Given the description of an element on the screen output the (x, y) to click on. 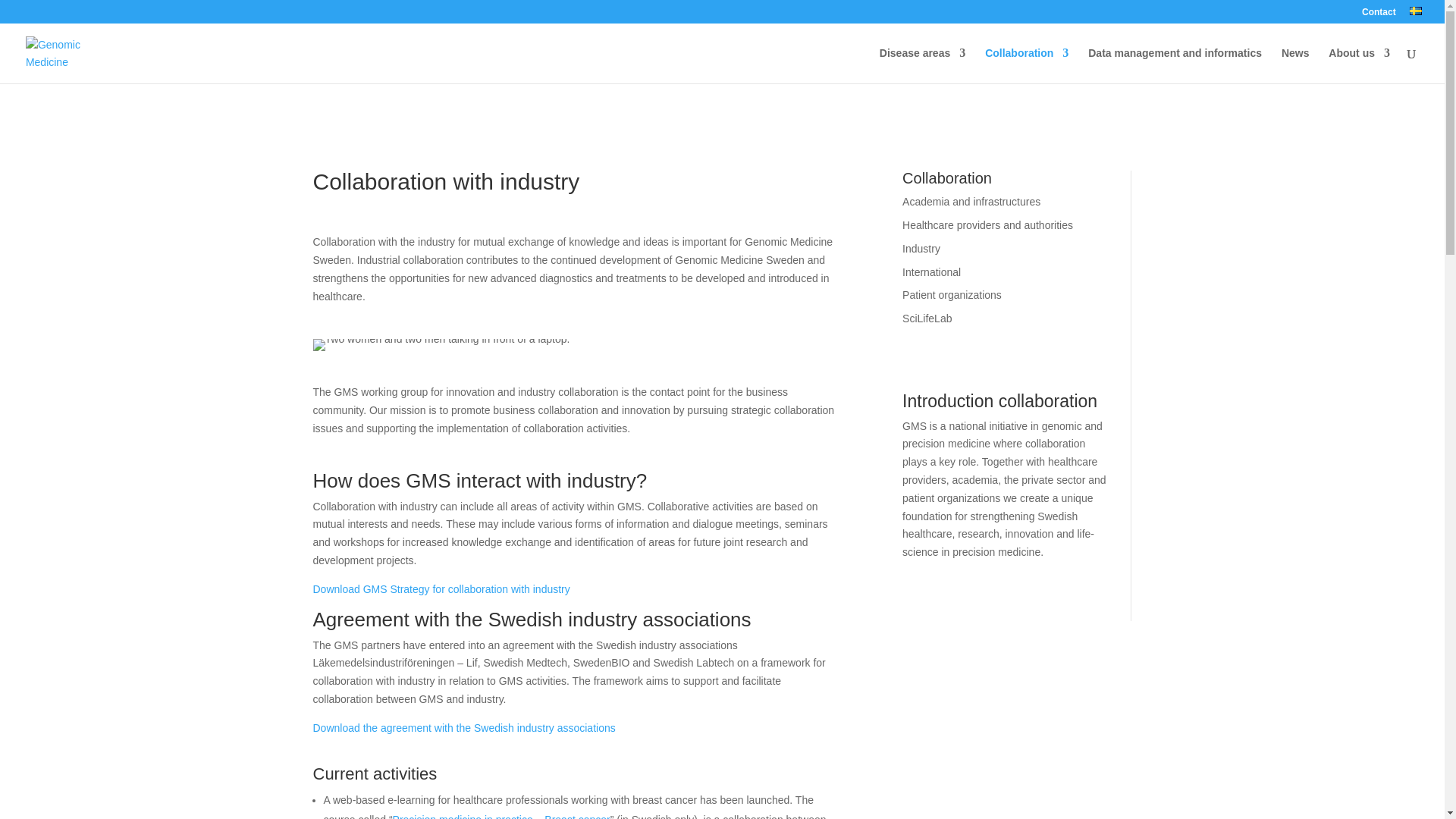
Patient organizations (951, 295)
SciLifeLab (927, 318)
Collaboration (1026, 65)
Academia and infrastructures (971, 201)
Disease areas (922, 65)
Contact (1378, 15)
Healthcare providers and authorities (987, 224)
About us (1358, 65)
International (931, 272)
